Given the description of an element on the screen output the (x, y) to click on. 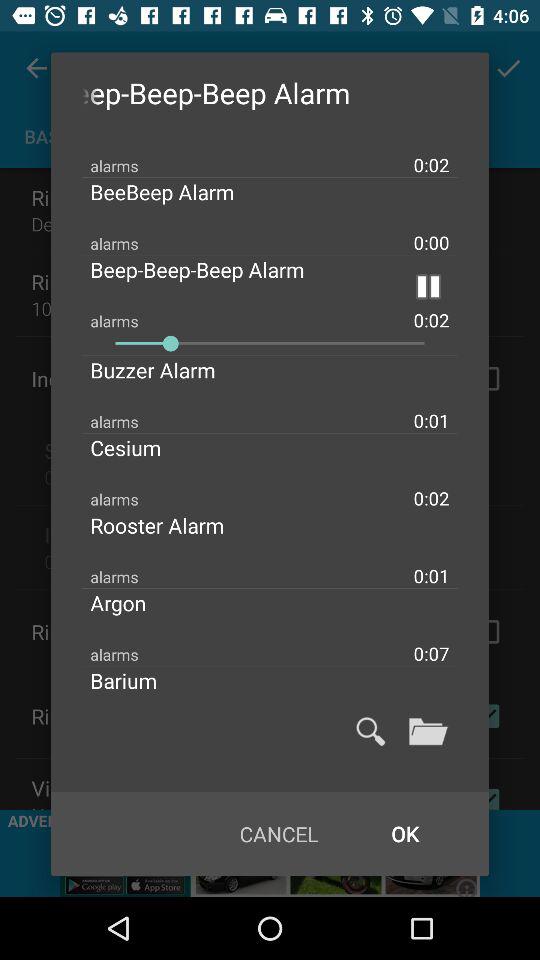
go to folder (428, 731)
